Given the description of an element on the screen output the (x, y) to click on. 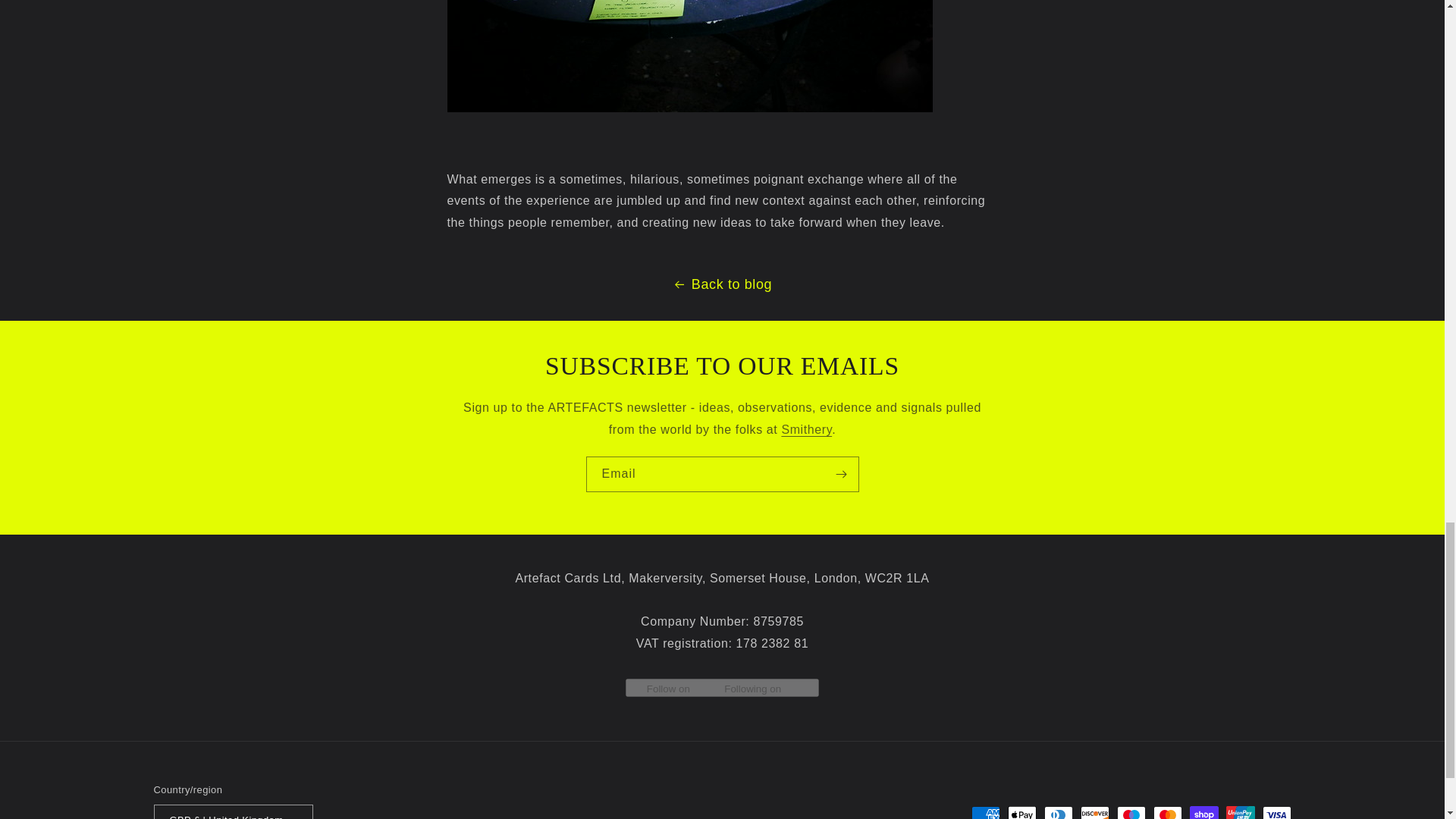
P1110569 (689, 110)
Smithery (805, 429)
